Given the description of an element on the screen output the (x, y) to click on. 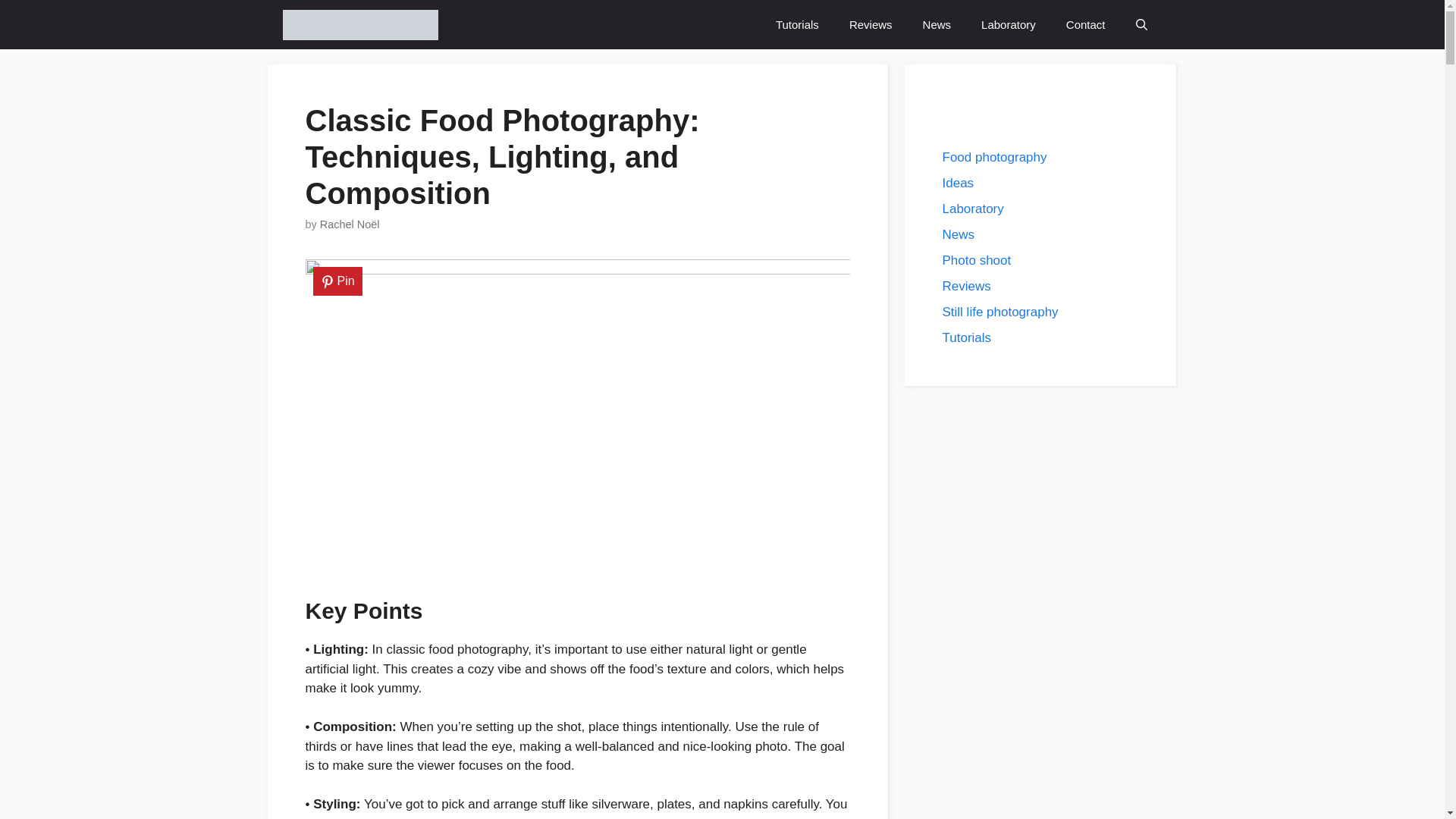
Contact (1086, 24)
Photeeq (360, 23)
Tutorials (797, 24)
News (936, 24)
Laboratory (1008, 24)
Reviews (870, 24)
